Given the description of an element on the screen output the (x, y) to click on. 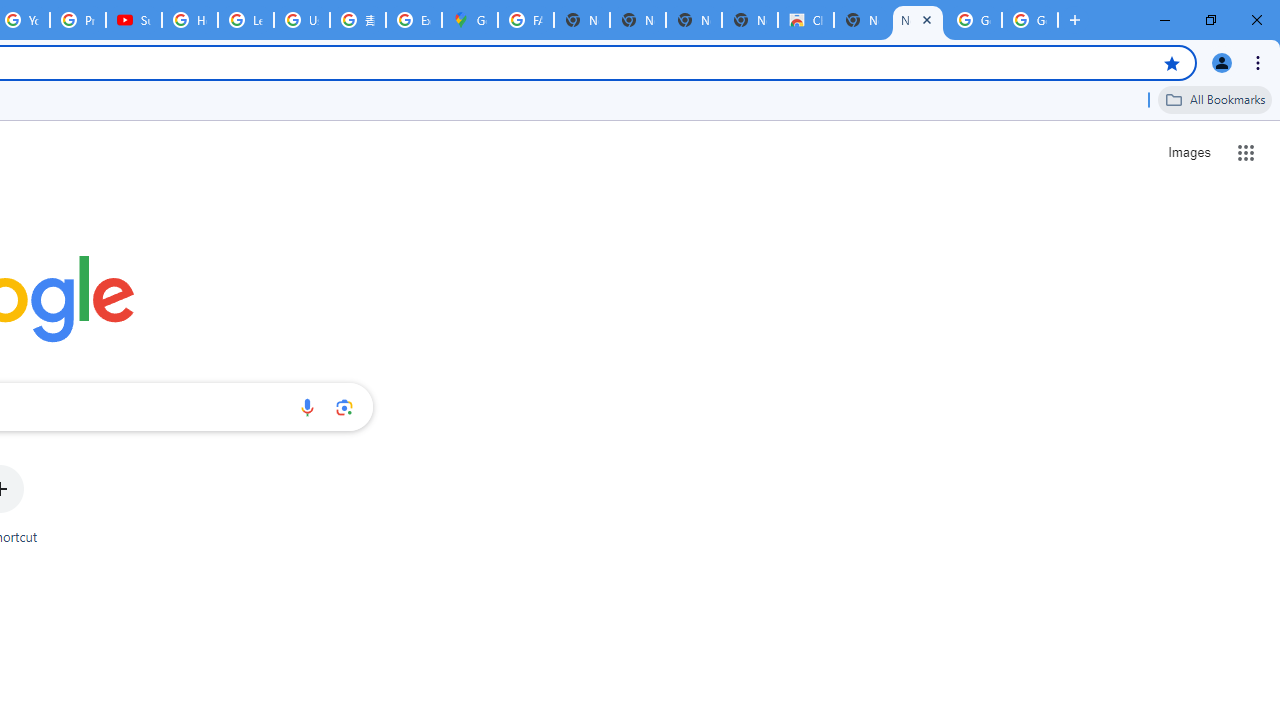
New Tab (917, 20)
Google Maps (469, 20)
